Given the description of an element on the screen output the (x, y) to click on. 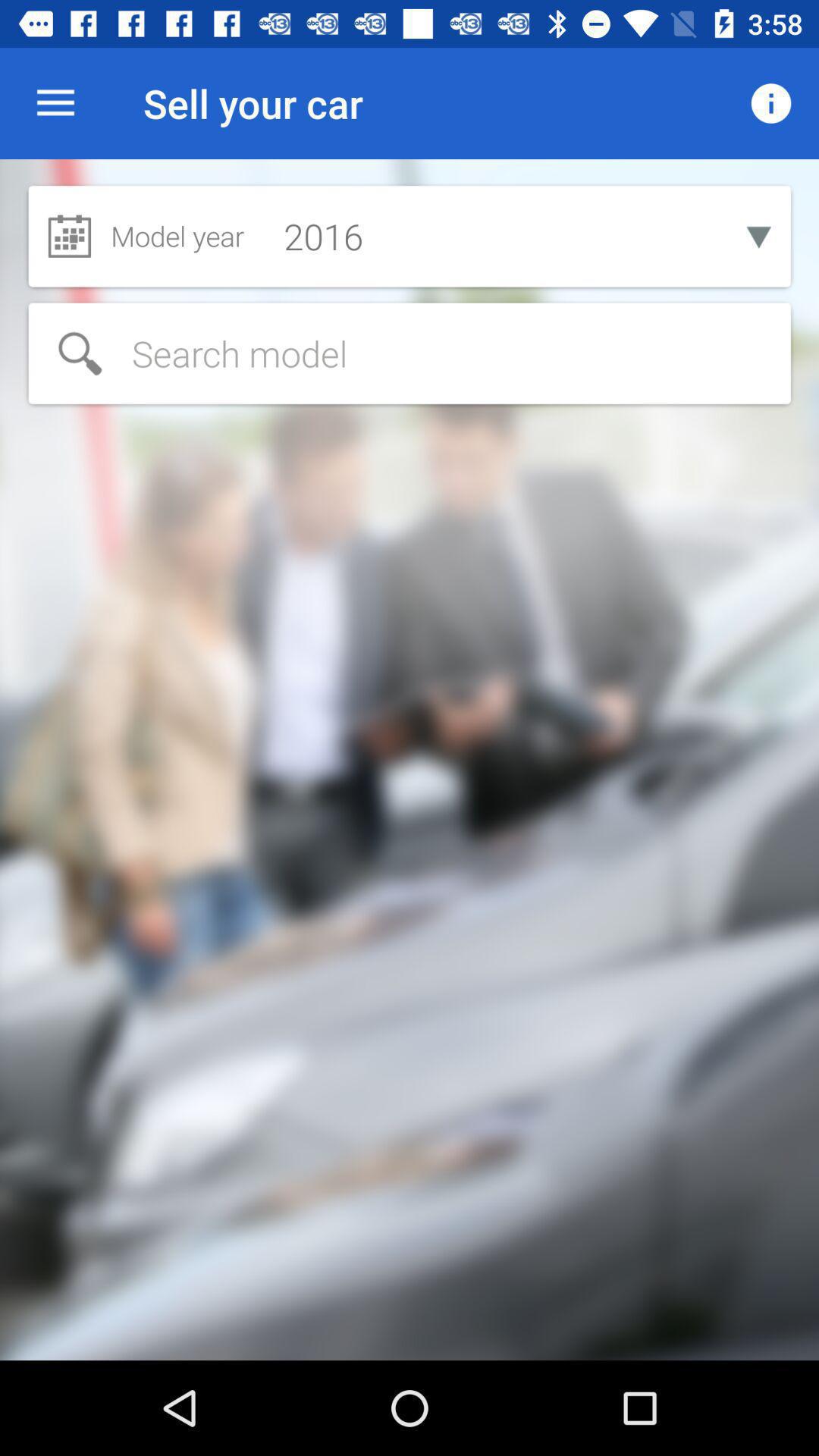
turn off the icon next to sell your car (55, 103)
